Given the description of an element on the screen output the (x, y) to click on. 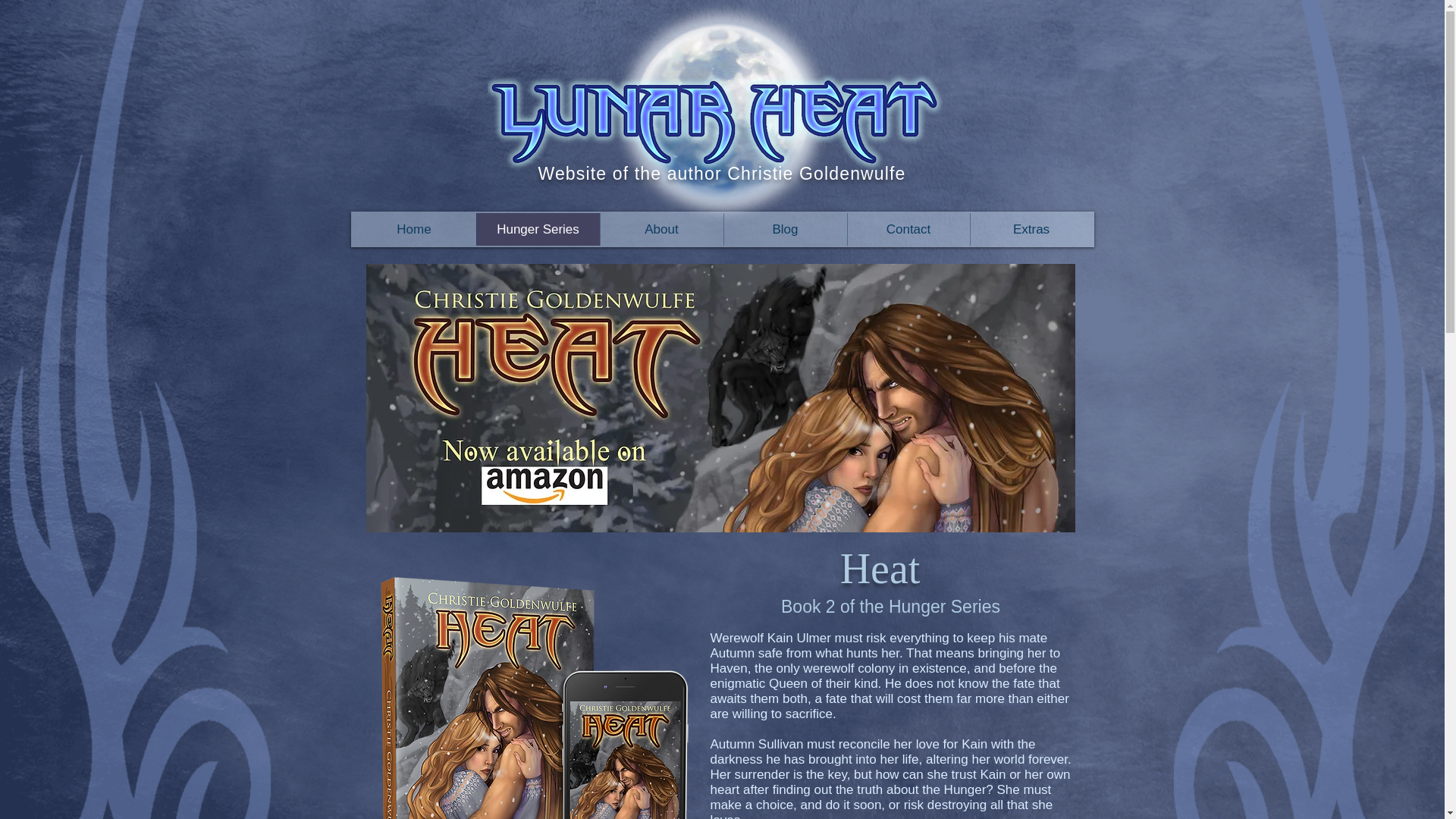
Hunger Series (537, 228)
Blog (785, 228)
Home (414, 228)
Extras (1030, 228)
About (660, 228)
Contact (907, 228)
